Given the description of an element on the screen output the (x, y) to click on. 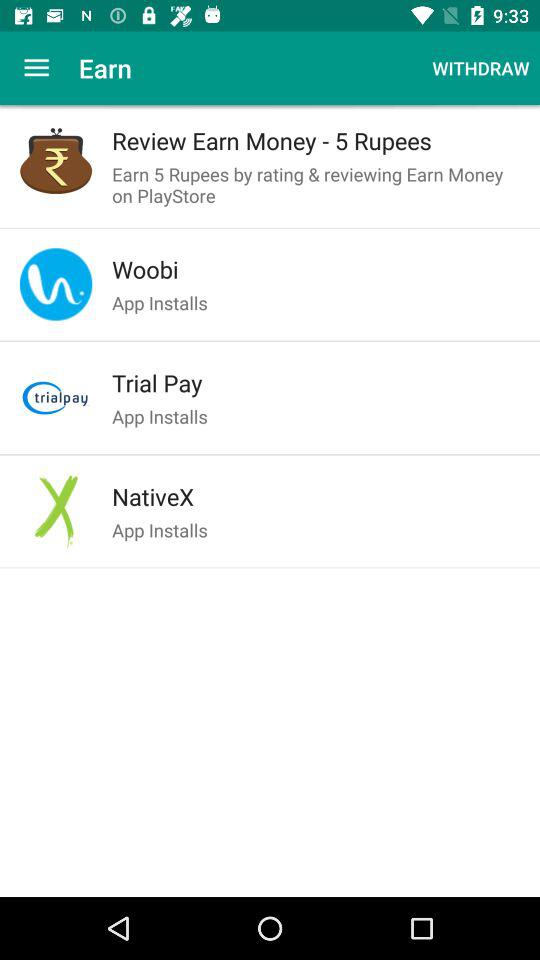
turn on item below app installs item (316, 383)
